Given the description of an element on the screen output the (x, y) to click on. 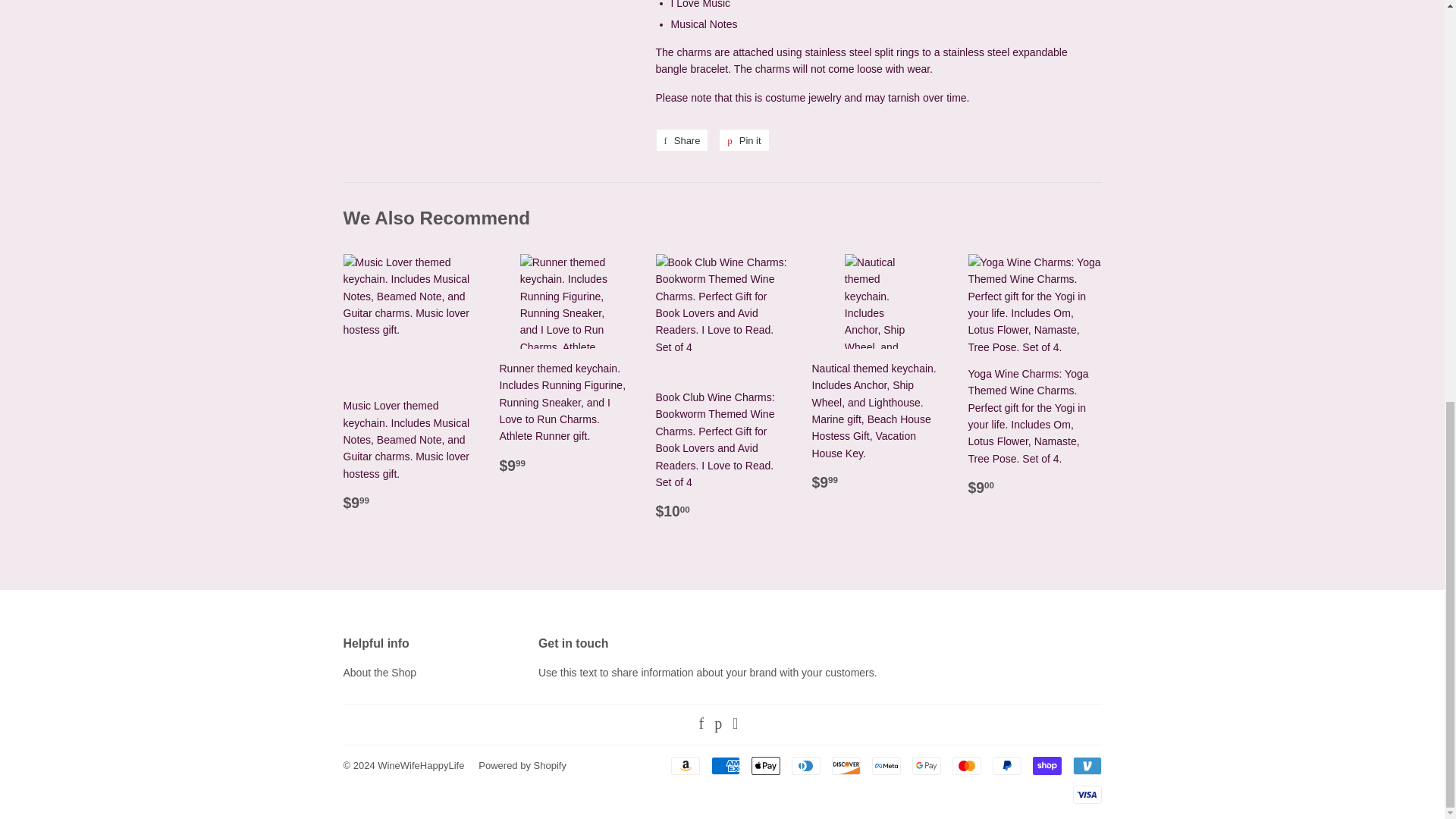
Venmo (1085, 765)
American Express (725, 765)
Meta Pay (886, 765)
Apple Pay (764, 765)
Pin on Pinterest (743, 139)
PayPal (1005, 765)
Discover (845, 765)
Diners Club (806, 765)
Visa (1085, 794)
Amazon (683, 765)
